Given the description of an element on the screen output the (x, y) to click on. 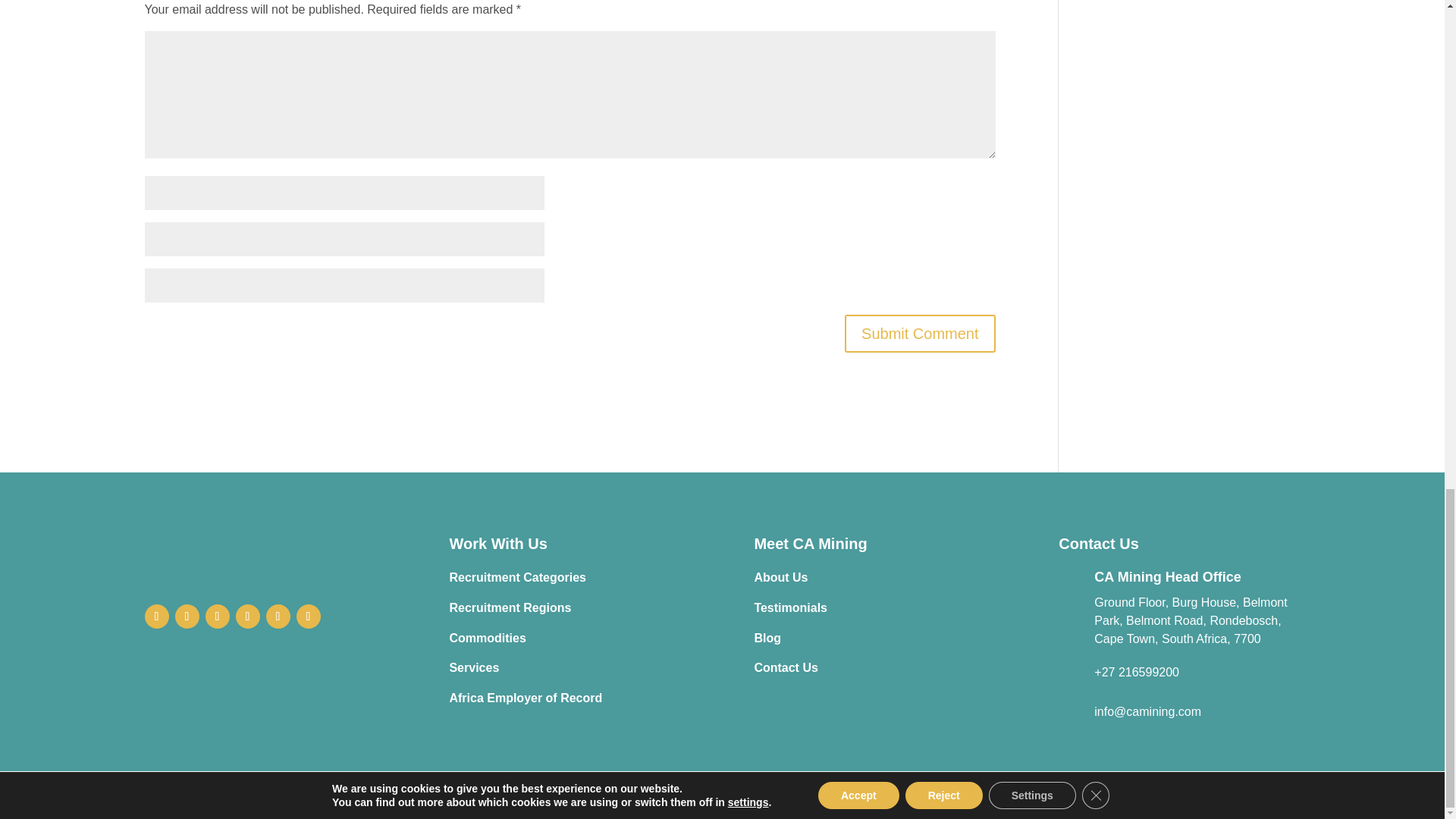
Follow on X (186, 616)
Submit Comment (919, 333)
Follow on Facebook (156, 616)
CA-Mining-1-White (264, 553)
